Given the description of an element on the screen output the (x, y) to click on. 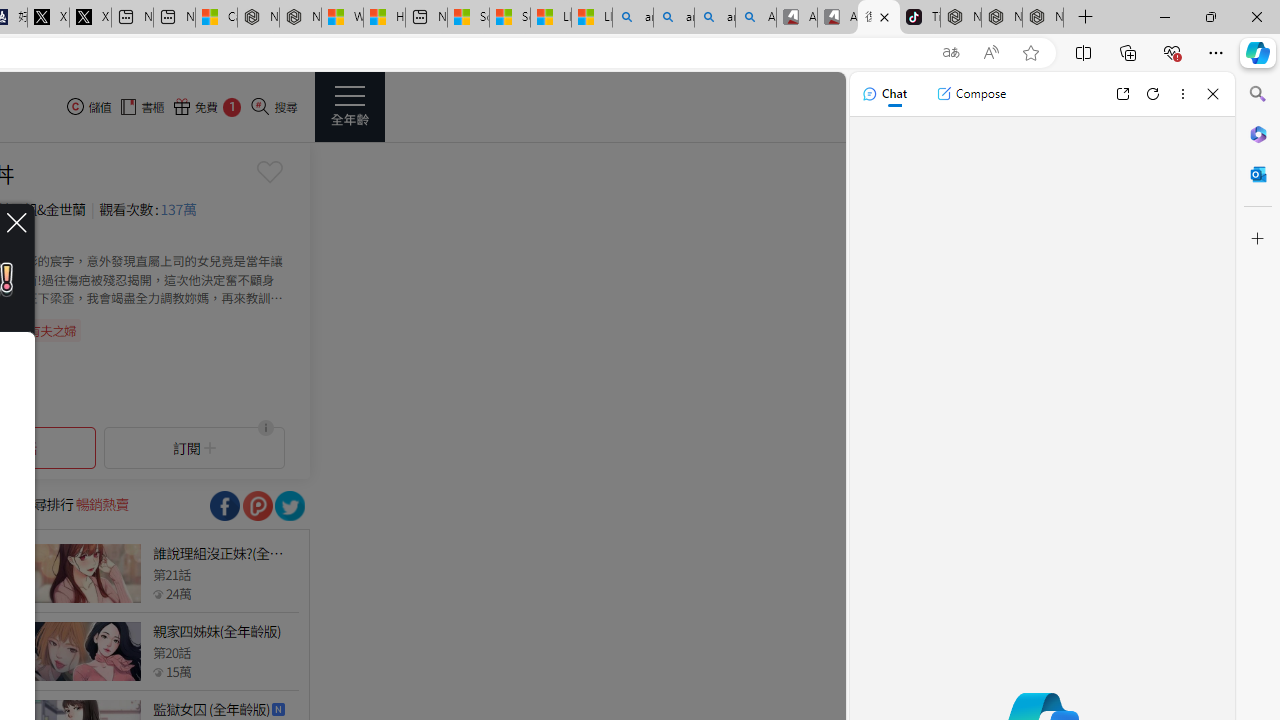
Nordace Siena Pro 15 Backpack (1001, 17)
Outlook (1258, 174)
All Cubot phones (837, 17)
Open link in new tab (1122, 93)
Customize (1258, 239)
Nordace - Siena Pro 15 Essential Set (1042, 17)
